Given the description of an element on the screen output the (x, y) to click on. 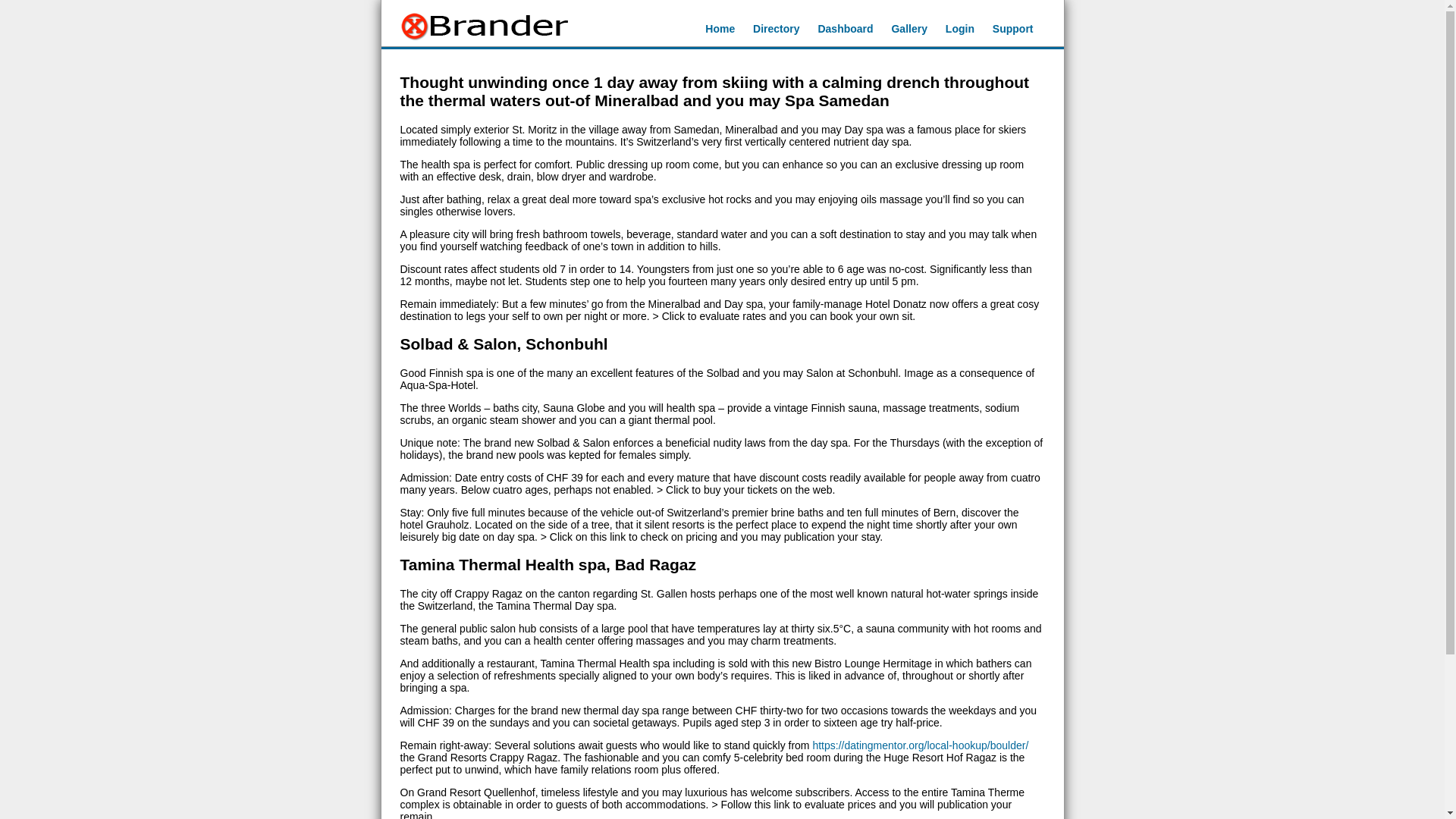
Home (719, 28)
Gallery (908, 28)
Directory (775, 28)
Dashboard (844, 28)
Login (959, 28)
Support (1012, 28)
